Given the description of an element on the screen output the (x, y) to click on. 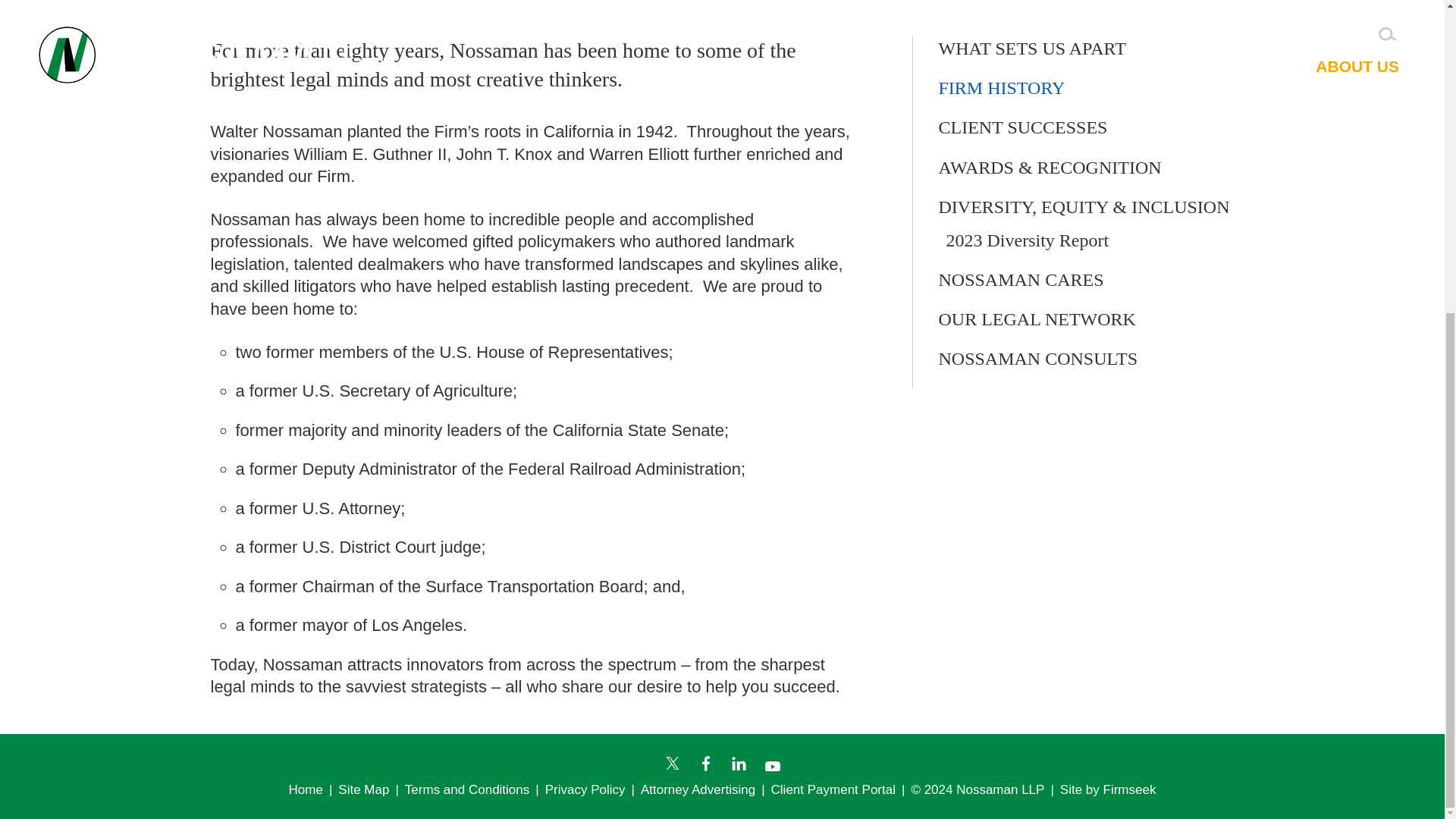
2023 Diversity Report (1027, 240)
NOSSAMAN CONSULTS (1038, 358)
CLIENT SUCCESSES (1023, 127)
OUR LEGAL NETWORK (1037, 319)
WHAT SETS US APART (1032, 48)
FIRM HISTORY (1002, 87)
NOSSAMAN CARES (1021, 279)
